Given the description of an element on the screen output the (x, y) to click on. 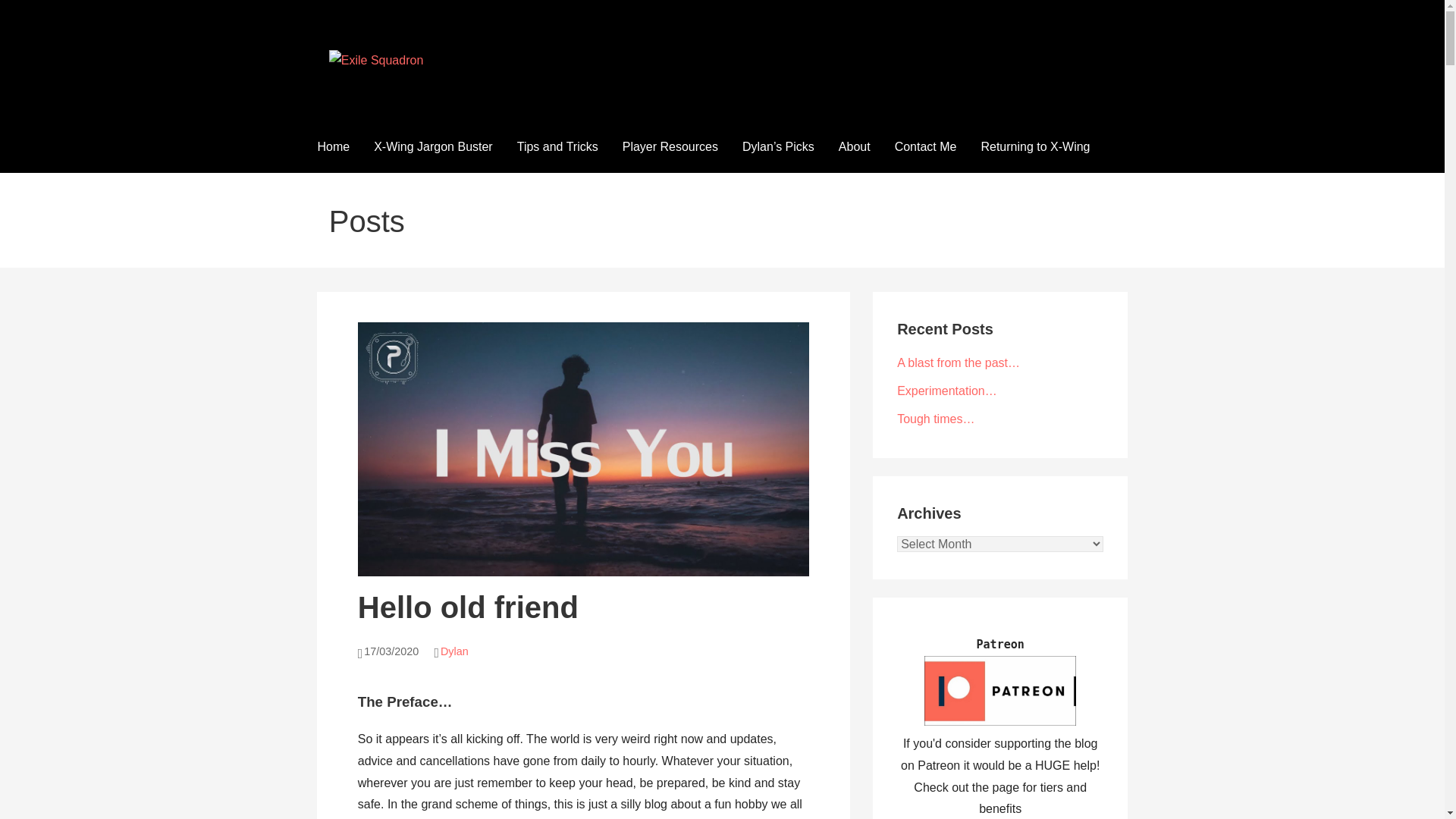
Tips and Tricks (557, 147)
Dylan (454, 650)
X-Wing Jargon Buster (433, 147)
Posts by Dylan (454, 650)
Exile Squadron (412, 90)
Home (332, 147)
About (854, 147)
Contact Me (925, 147)
Player Resources (670, 147)
Returning to X-Wing (1035, 147)
Search (31, 15)
